Given the description of an element on the screen output the (x, y) to click on. 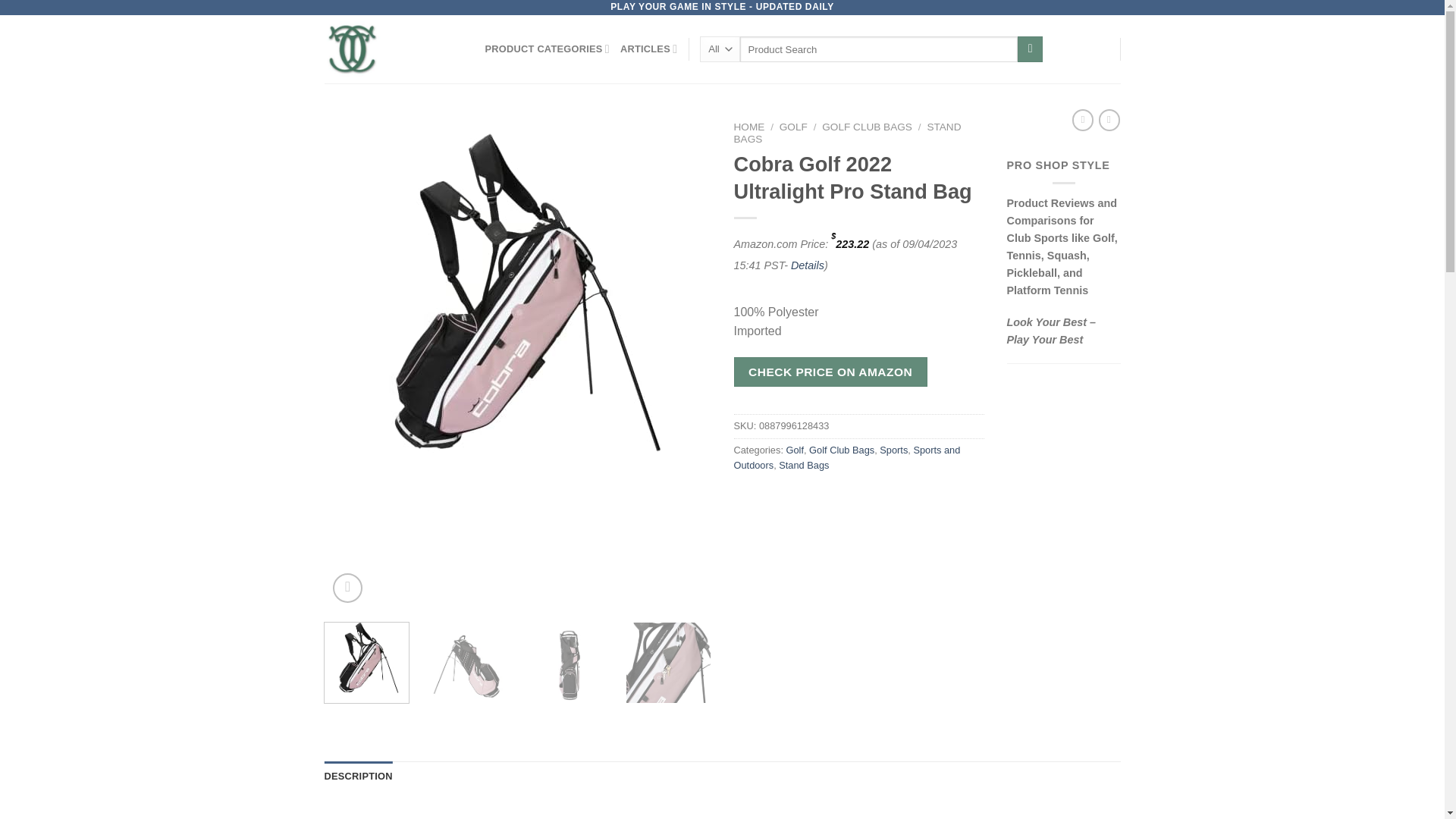
PRODUCT CATEGORIES (547, 49)
GOLF (793, 126)
STAND BAGS (846, 132)
Search (1029, 49)
GOLF CLUB BAGS (867, 126)
ARTICLES (648, 49)
Details (807, 265)
Zoom (347, 587)
CHECK PRICE ON AMAZON (830, 371)
Pro Shop Style - Look Your Best.  Play Your Best. (393, 49)
HOME (749, 126)
